Given the description of an element on the screen output the (x, y) to click on. 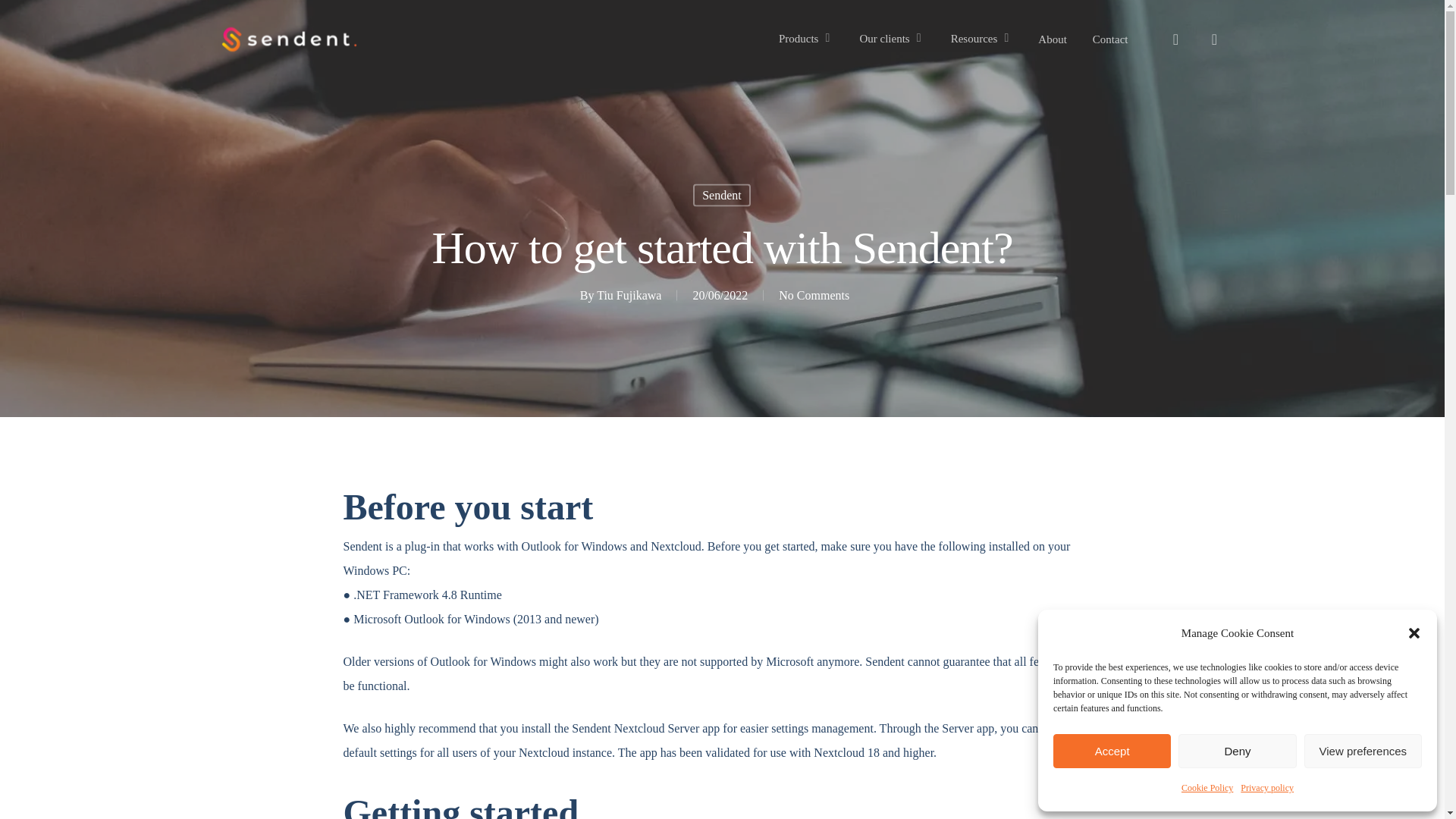
Posts by Tiu Fujikawa (628, 294)
Privacy policy (1267, 787)
Products (806, 39)
Our clients (891, 39)
View preferences (1363, 750)
Cookie Policy (1206, 787)
Deny (1236, 750)
Accept (1111, 750)
Resources (981, 39)
